Given the description of an element on the screen output the (x, y) to click on. 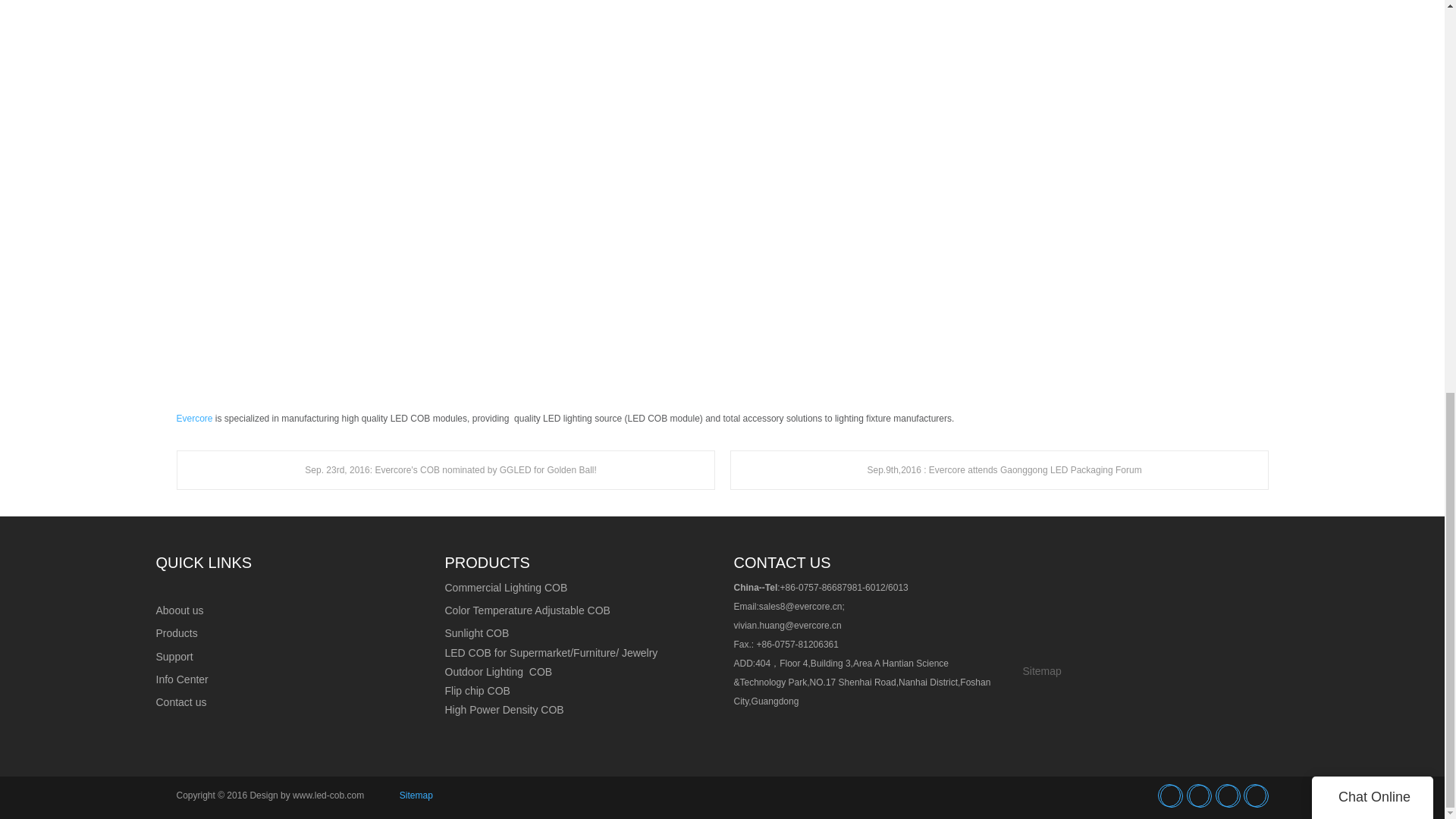
Evercore (194, 418)
Products (176, 633)
Info Center (181, 679)
Aboout us (179, 610)
Support (174, 656)
